Given the description of an element on the screen output the (x, y) to click on. 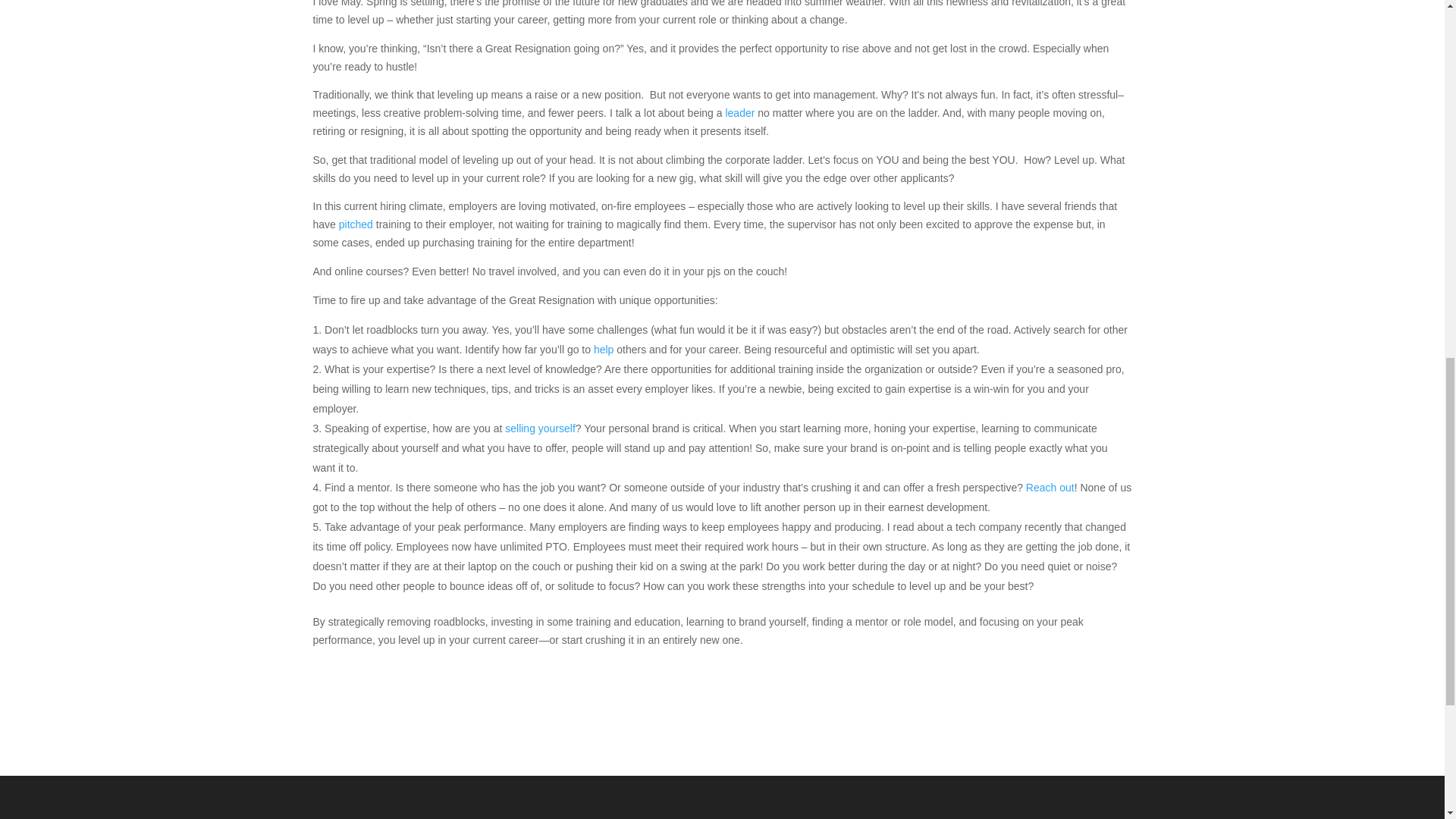
leader (741, 112)
pitched (355, 224)
help (603, 349)
selling yourself (540, 428)
Reach out (1050, 487)
